Given the description of an element on the screen output the (x, y) to click on. 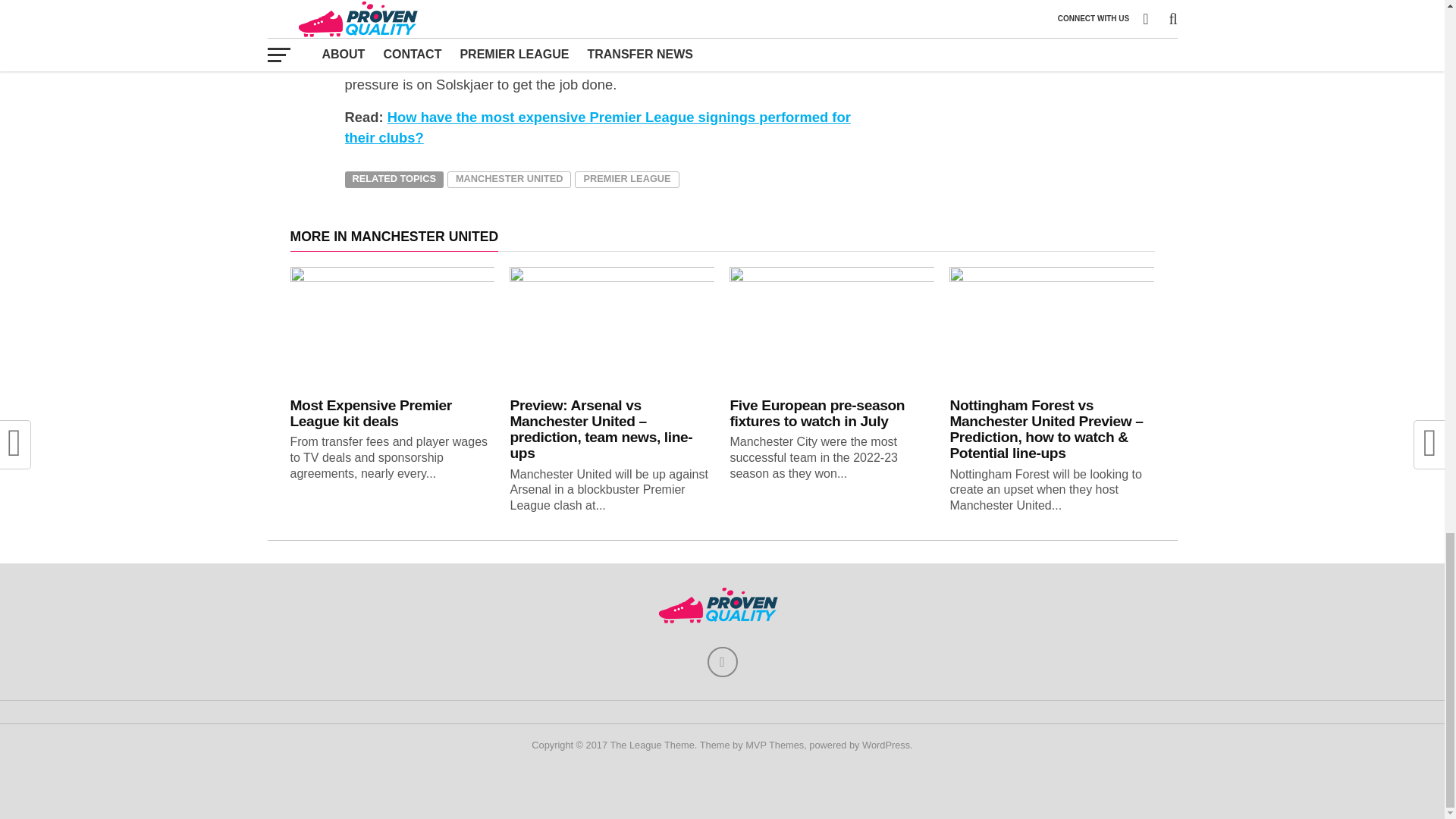
PREMIER LEAGUE (626, 179)
MANCHESTER UNITED (508, 179)
